Given the description of an element on the screen output the (x, y) to click on. 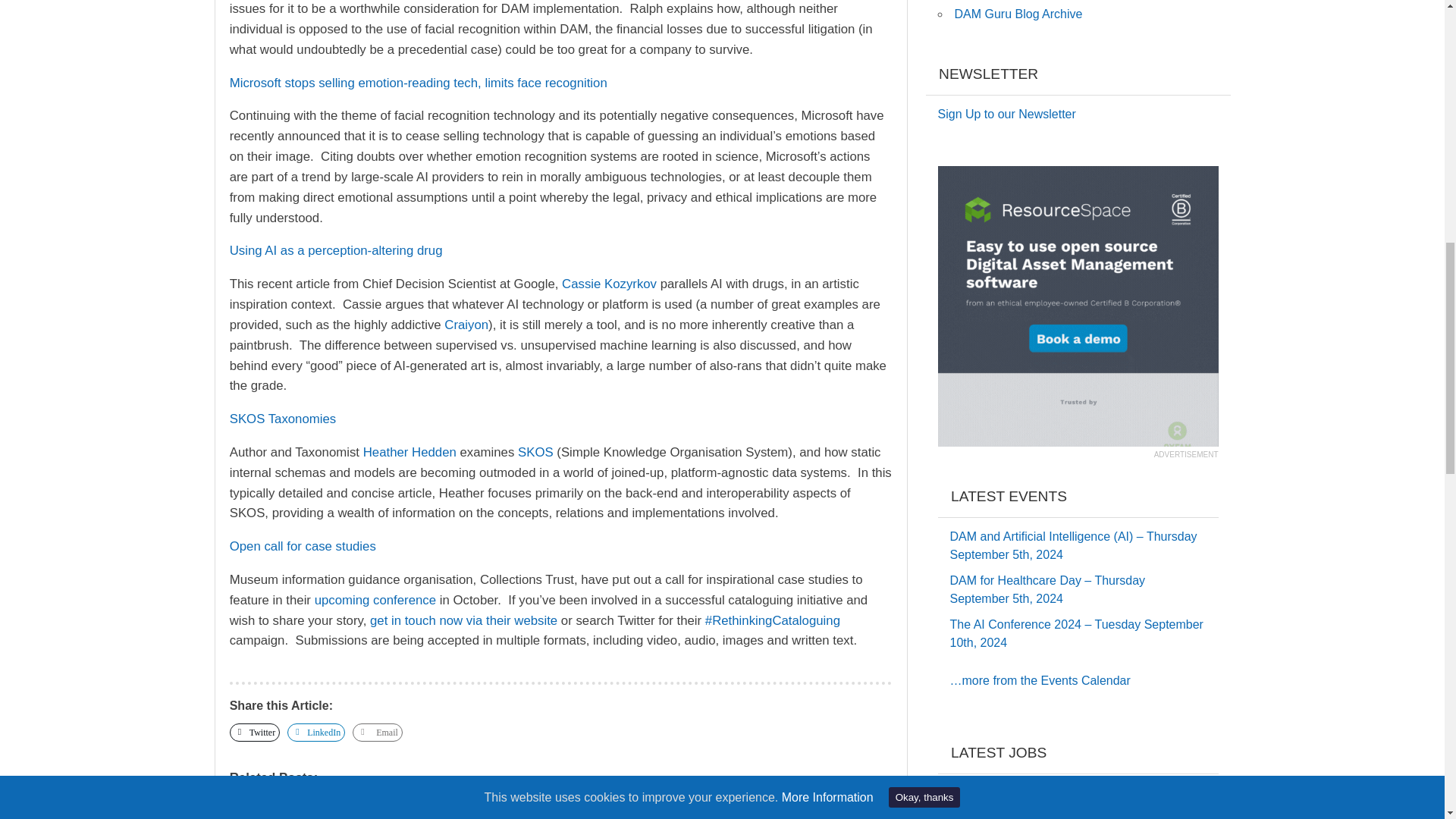
Using AI as a perception-altering drug (336, 250)
DAM Guru Blog Archive (1017, 13)
